Given the description of an element on the screen output the (x, y) to click on. 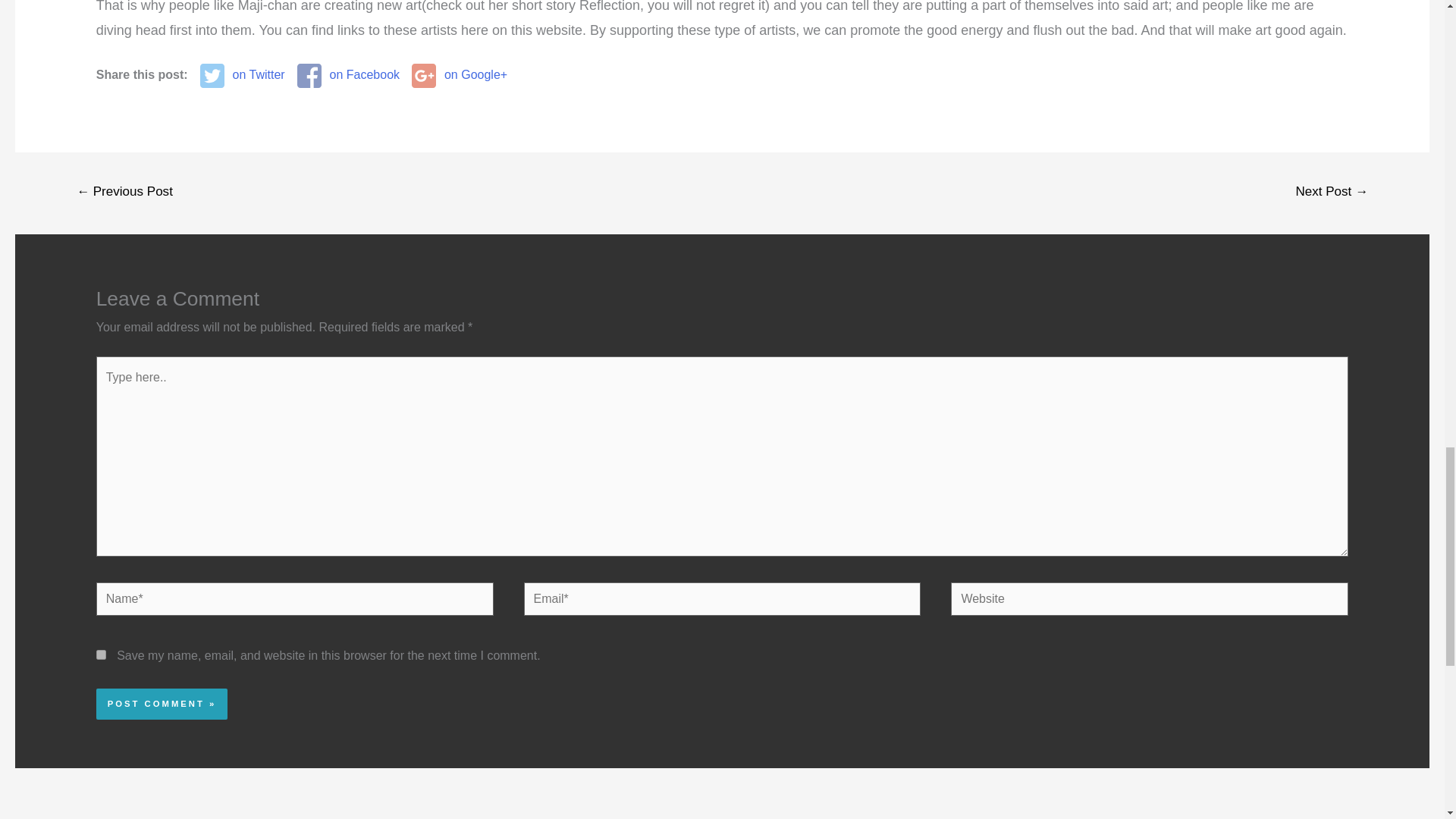
on Twitter (242, 75)
on Facebook (347, 75)
yes (101, 655)
